Given the description of an element on the screen output the (x, y) to click on. 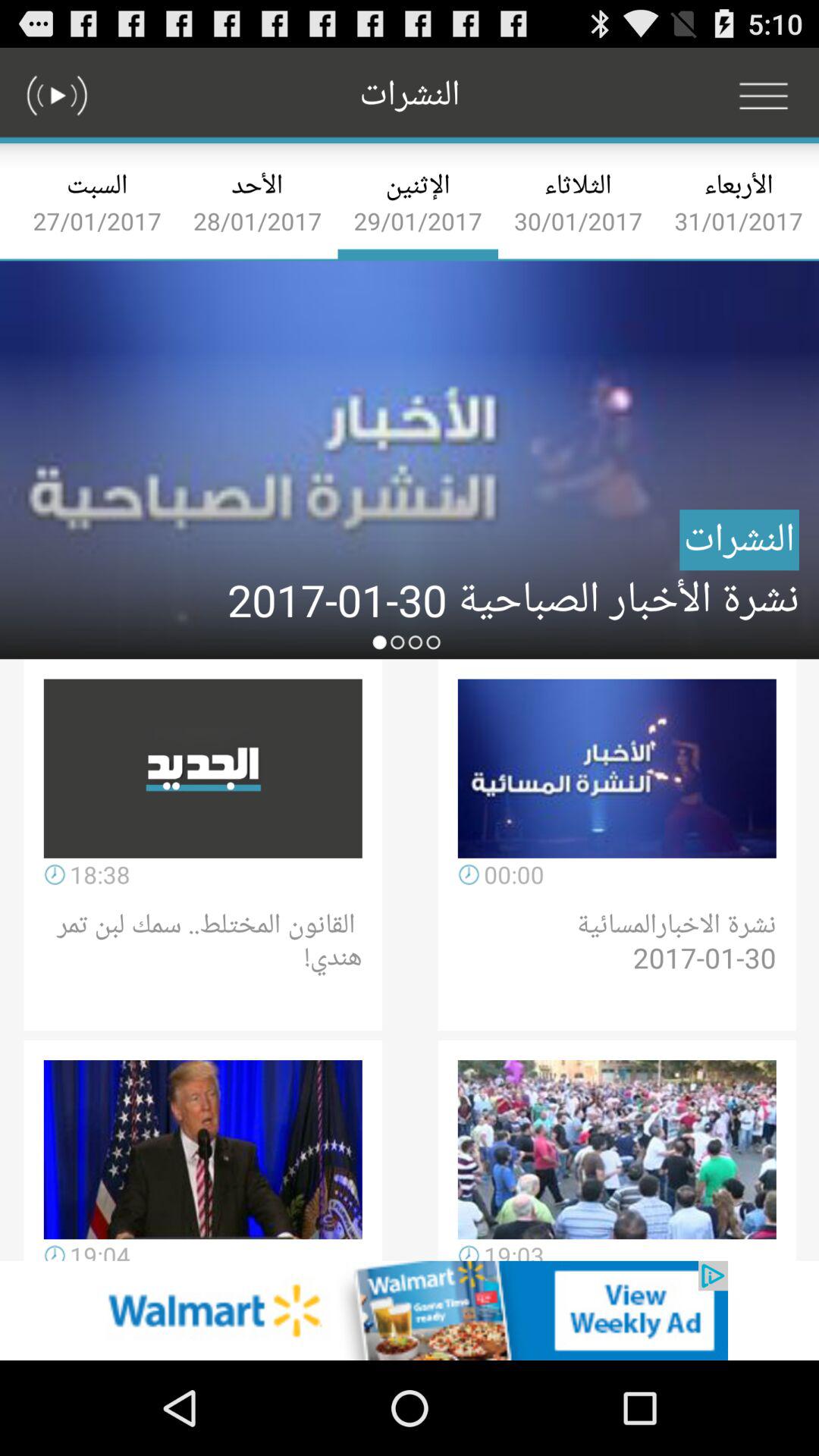
select the first  item under the image (203, 769)
